Given the description of an element on the screen output the (x, y) to click on. 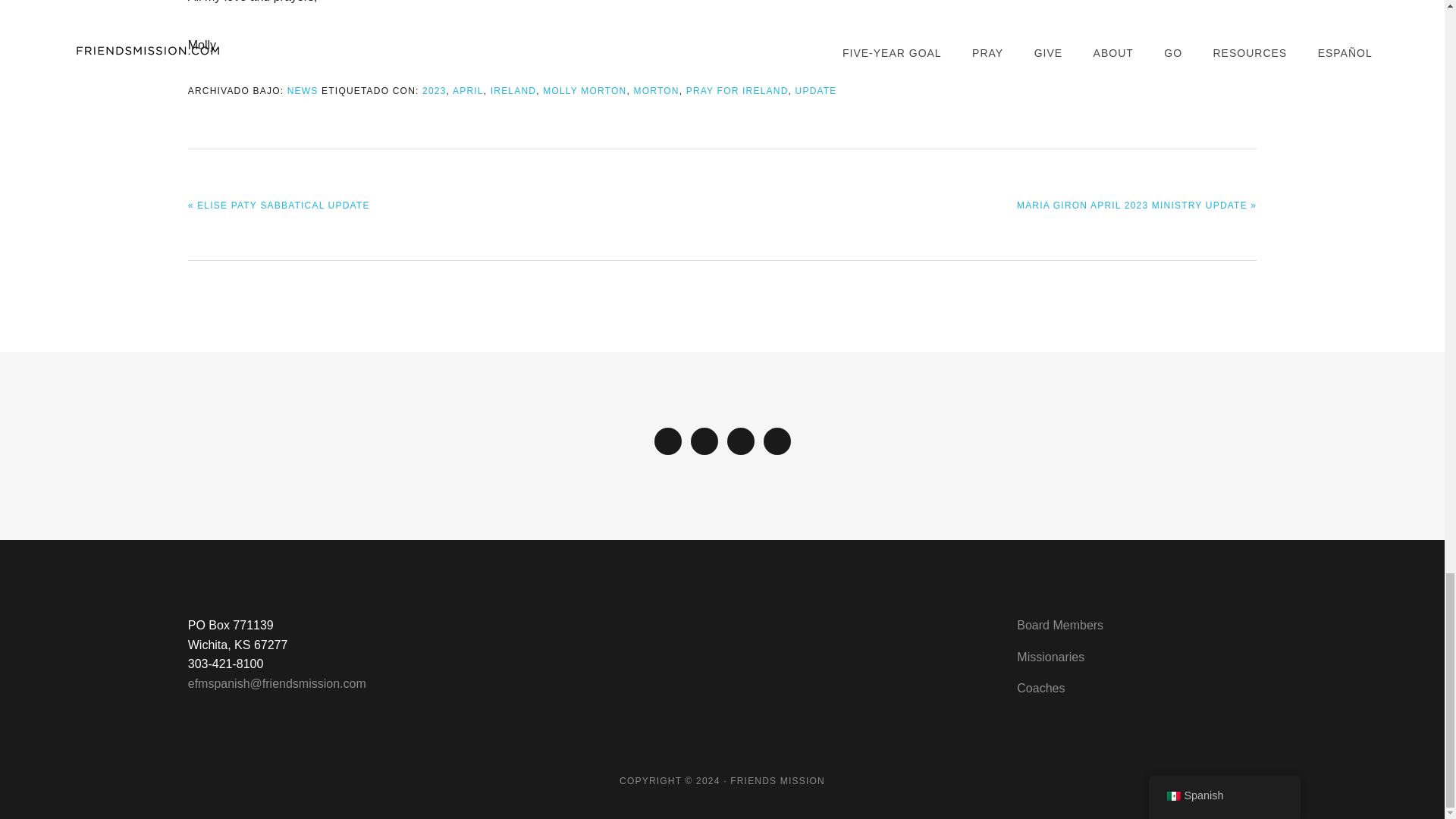
NEWS (302, 90)
IRELAND (512, 90)
APRIL (467, 90)
2023 (434, 90)
